Given the description of an element on the screen output the (x, y) to click on. 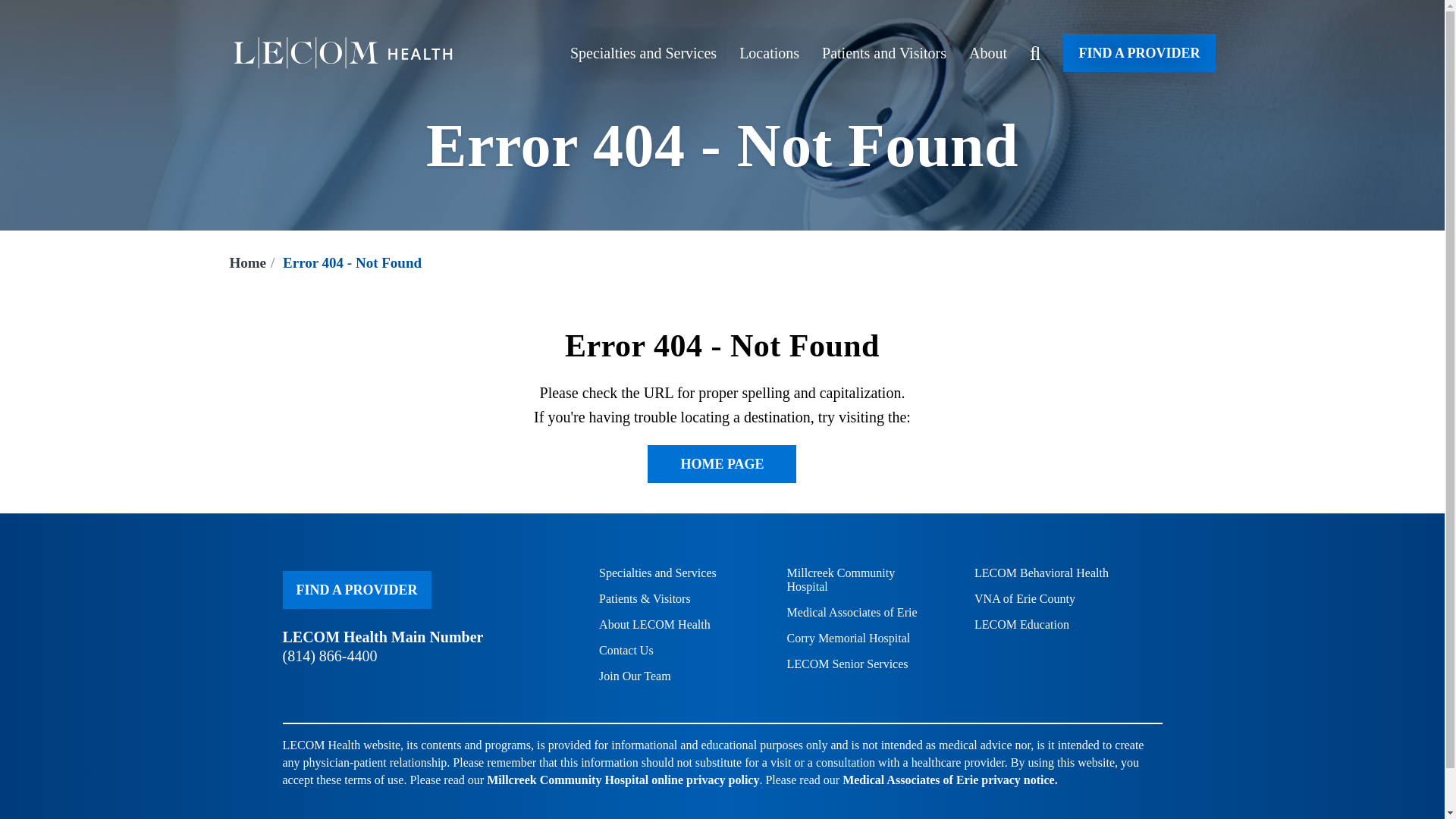
FIND A PROVIDER (1138, 53)
Patients and Visitors (884, 53)
HOME PAGE (721, 464)
Home (247, 262)
FIND A PROVIDER (356, 589)
About (988, 53)
Locations (769, 53)
Specialties and Services (643, 53)
